Given the description of an element on the screen output the (x, y) to click on. 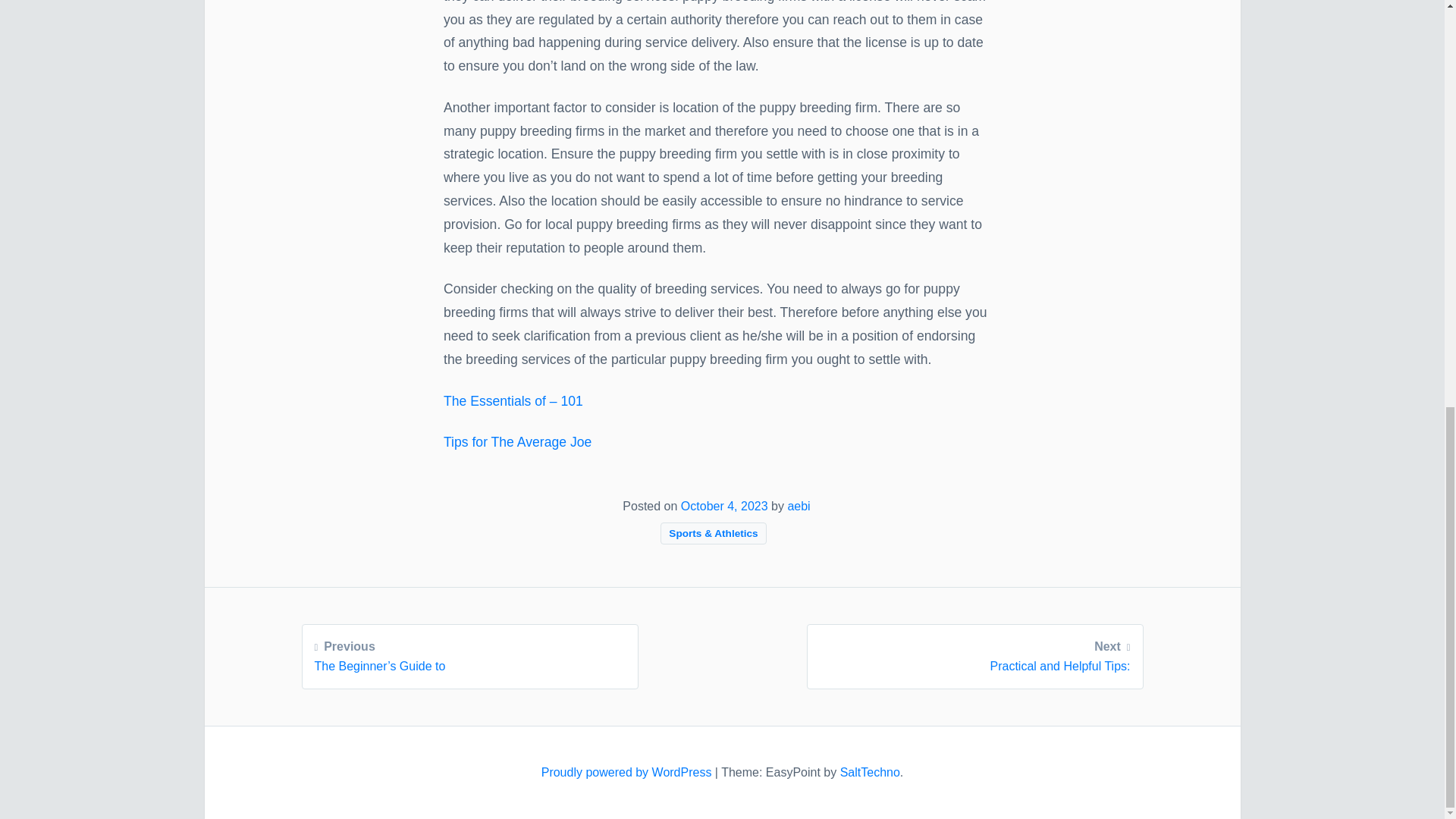
October 4, 2023 (724, 505)
Tips for The Average Joe (517, 441)
Proudly powered by WordPress (973, 654)
aebi (627, 771)
SaltTechno (798, 505)
